Given the description of an element on the screen output the (x, y) to click on. 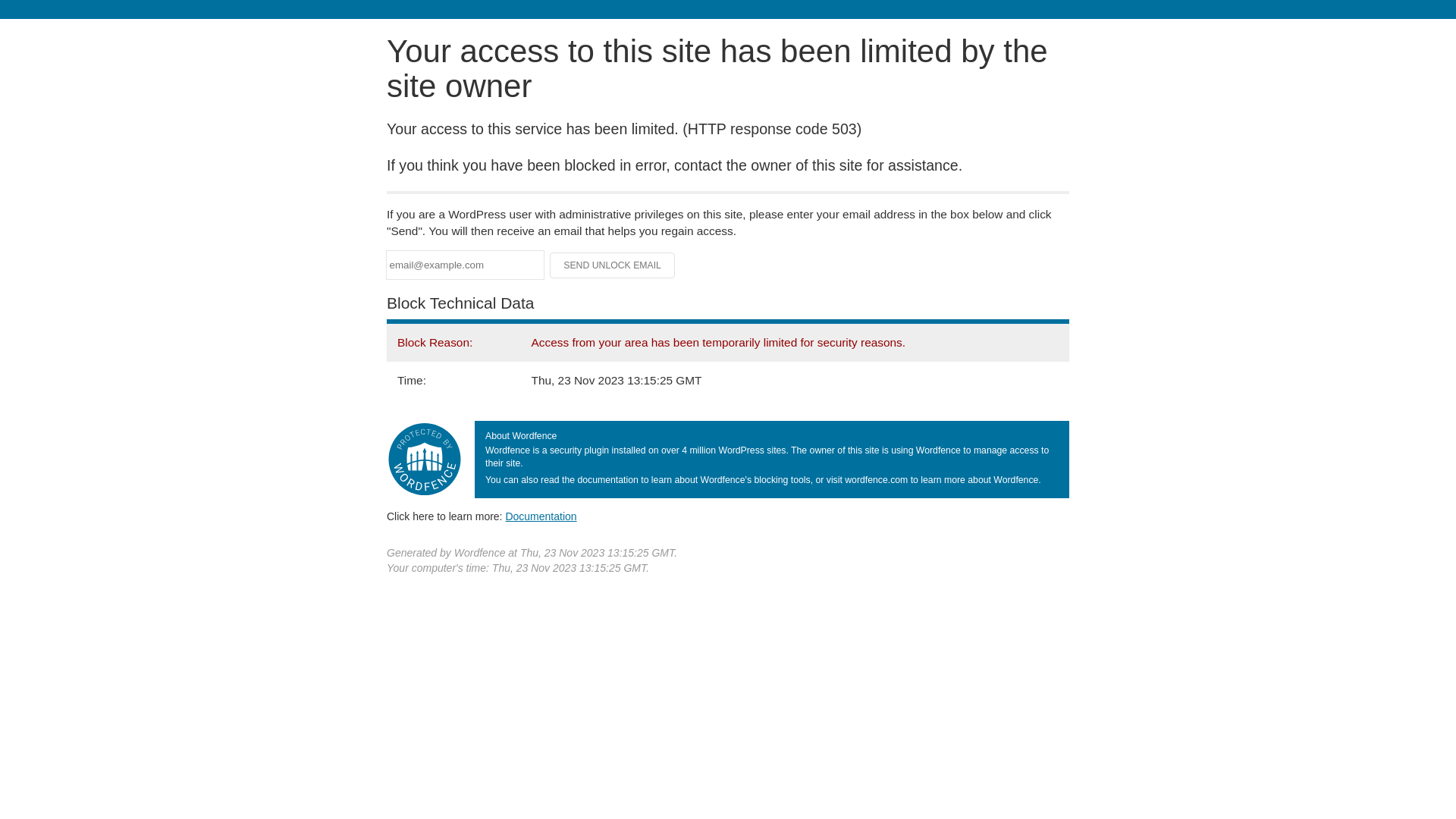
Send Unlock Email Element type: text (612, 265)
Documentation Element type: text (540, 516)
